Given the description of an element on the screen output the (x, y) to click on. 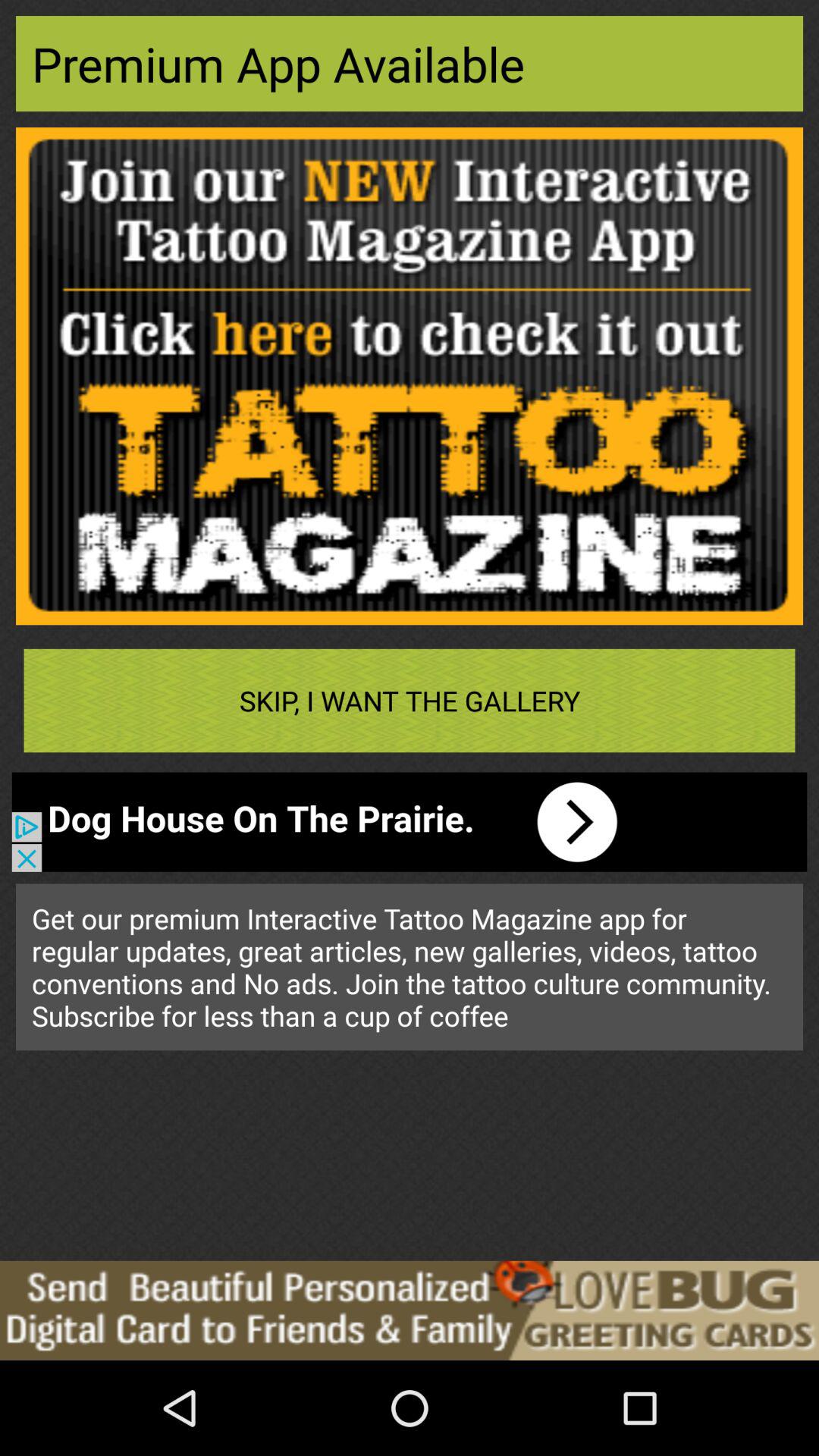
advertisement (409, 376)
